Given the description of an element on the screen output the (x, y) to click on. 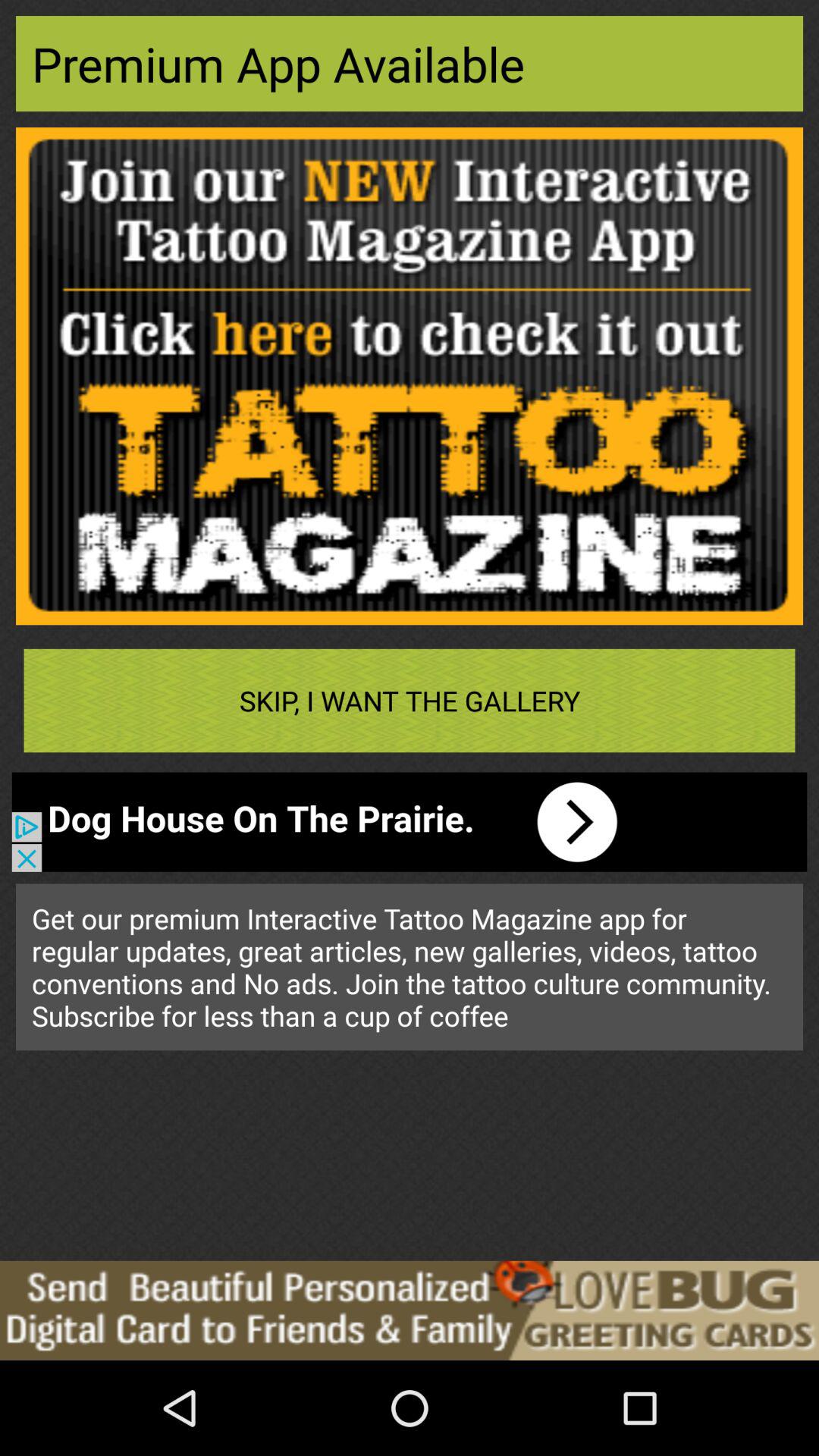
advertisement (409, 376)
